Given the description of an element on the screen output the (x, y) to click on. 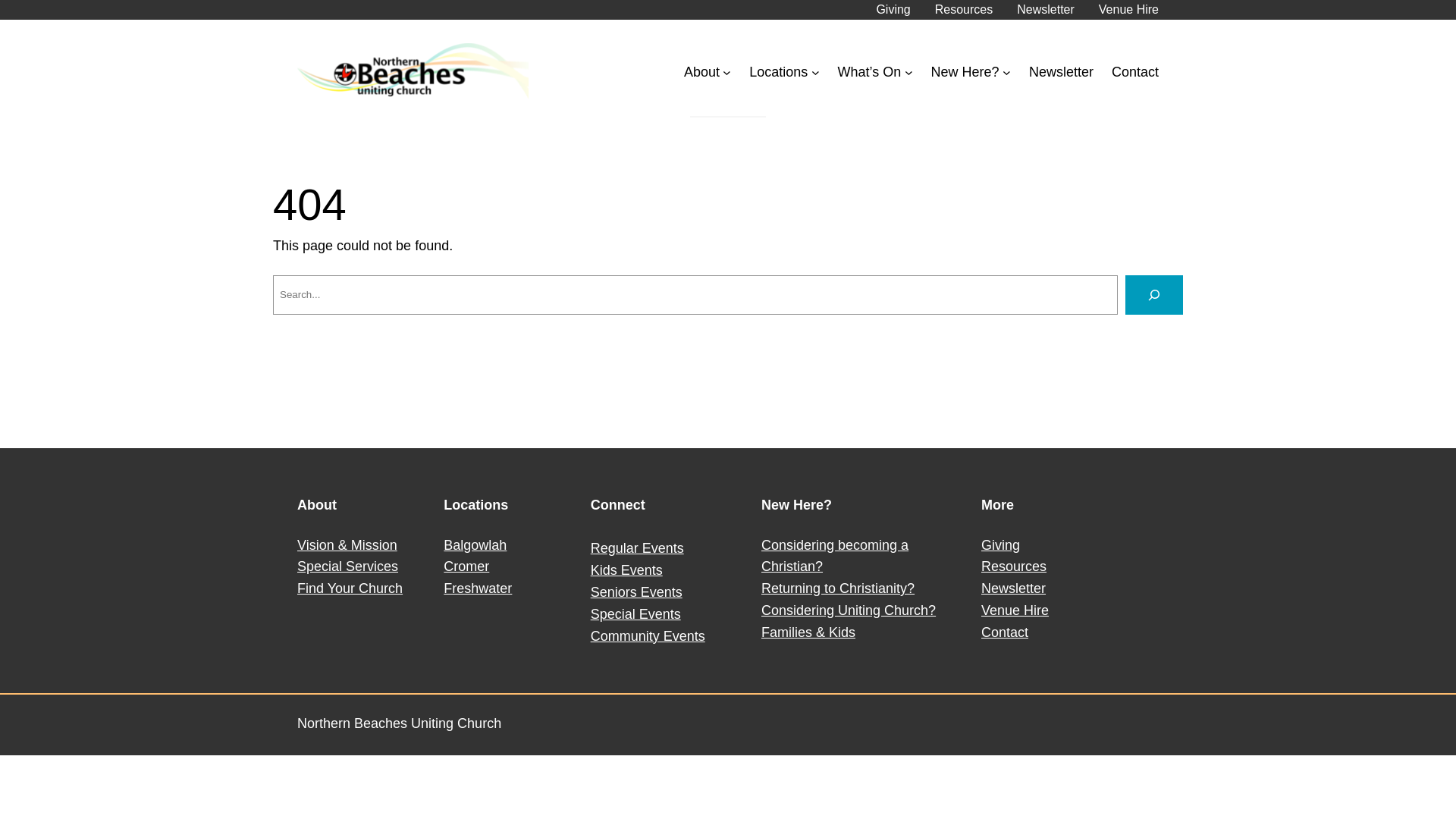
Considering becoming a Christian? Element type: text (834, 555)
Contact Element type: text (1134, 72)
Venue Hire Element type: text (1128, 9)
Newsletter Element type: text (1045, 9)
Families & Kids Element type: text (808, 632)
Newsletter Element type: text (1013, 588)
Balgowlah Element type: text (474, 544)
Resources Element type: text (1013, 566)
Regular Events Element type: text (637, 547)
New Here? Element type: text (965, 72)
Find Your Church Element type: text (349, 588)
Giving Element type: text (1000, 544)
Kids Events Element type: text (626, 569)
Freshwater Element type: text (477, 588)
Vision & Mission Element type: text (347, 544)
Contact Element type: text (1004, 632)
Considering Uniting Church? Element type: text (848, 610)
Community Events Element type: text (647, 635)
Cromer Element type: text (466, 566)
About Element type: text (701, 72)
Locations Element type: text (778, 72)
Venue Hire Element type: text (1014, 610)
Newsletter Element type: text (1061, 72)
Special Events Element type: text (635, 613)
Resources Element type: text (963, 9)
Giving Element type: text (892, 9)
Returning to Christianity? Element type: text (837, 588)
Special Services Element type: text (347, 566)
Seniors Events Element type: text (636, 591)
